Given the description of an element on the screen output the (x, y) to click on. 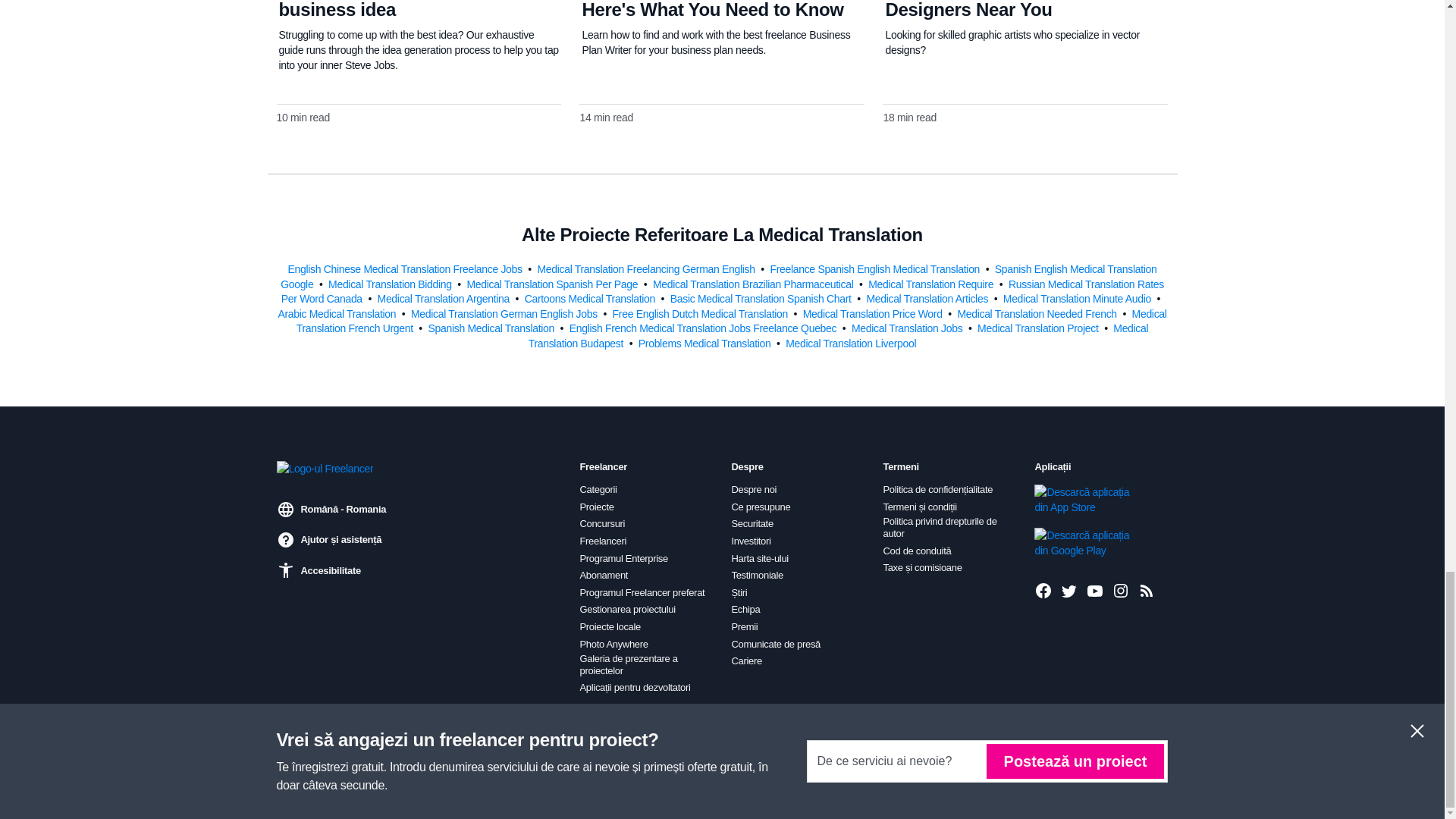
Freelancer pe Twitter (1068, 590)
Freelancer pe Youtube (1094, 590)
Freelancer pe Instagram (1120, 590)
Ultimele proiecte (1146, 590)
Hiring a Business Plan Writer? Here's What You Need to Know (711, 9)
How To Hire Expert SVG Designers Near You (987, 9)
How to come up with a great business idea (399, 9)
Medical Translation Freelancing German English (647, 268)
Freelancer pe Facebook (1042, 590)
English Chinese Medical Translation Freelance Jobs (405, 268)
